Given the description of an element on the screen output the (x, y) to click on. 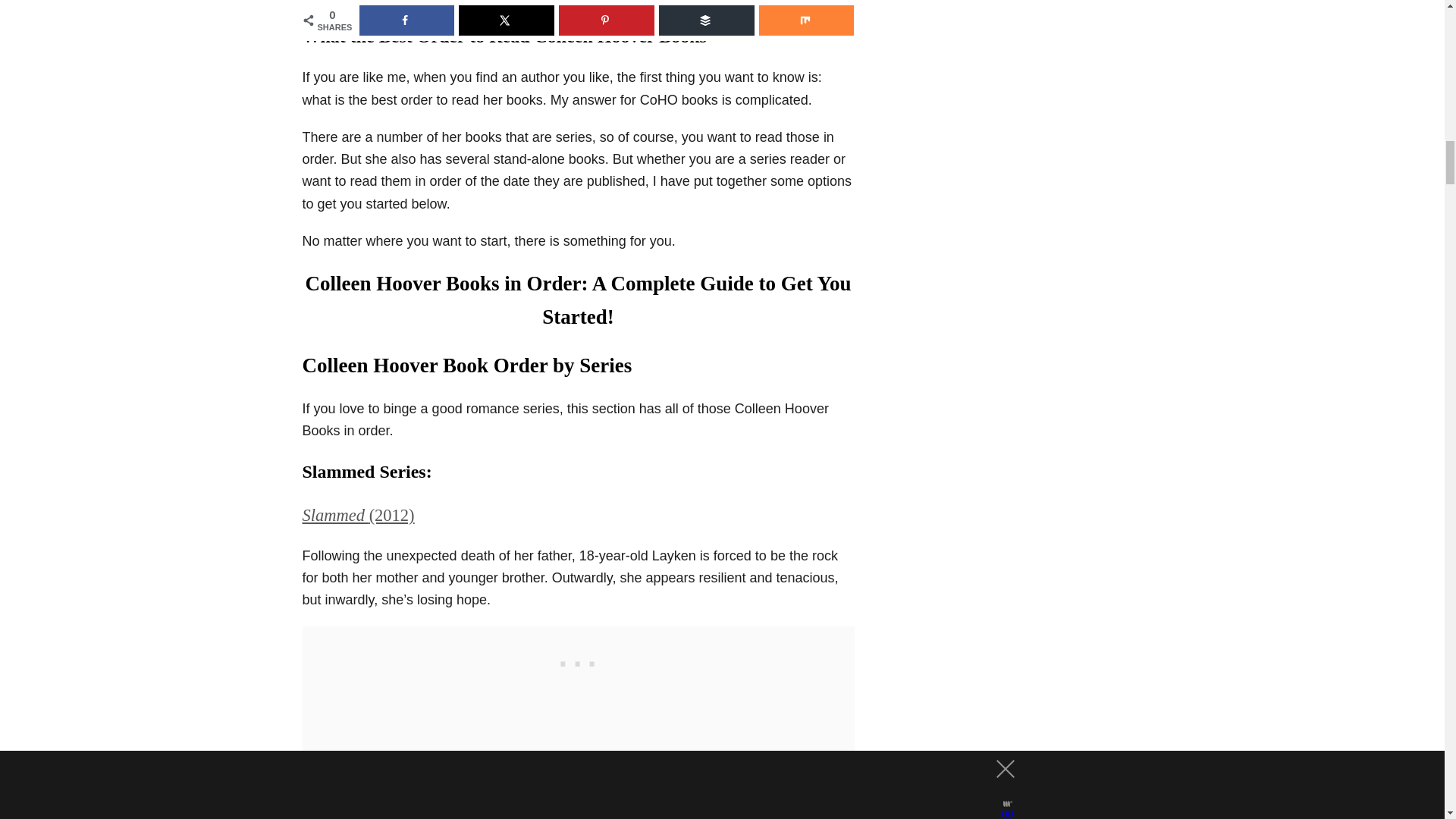
Kindle Unlimited (449, 1)
3rd party ad content (577, 660)
